Given the description of an element on the screen output the (x, y) to click on. 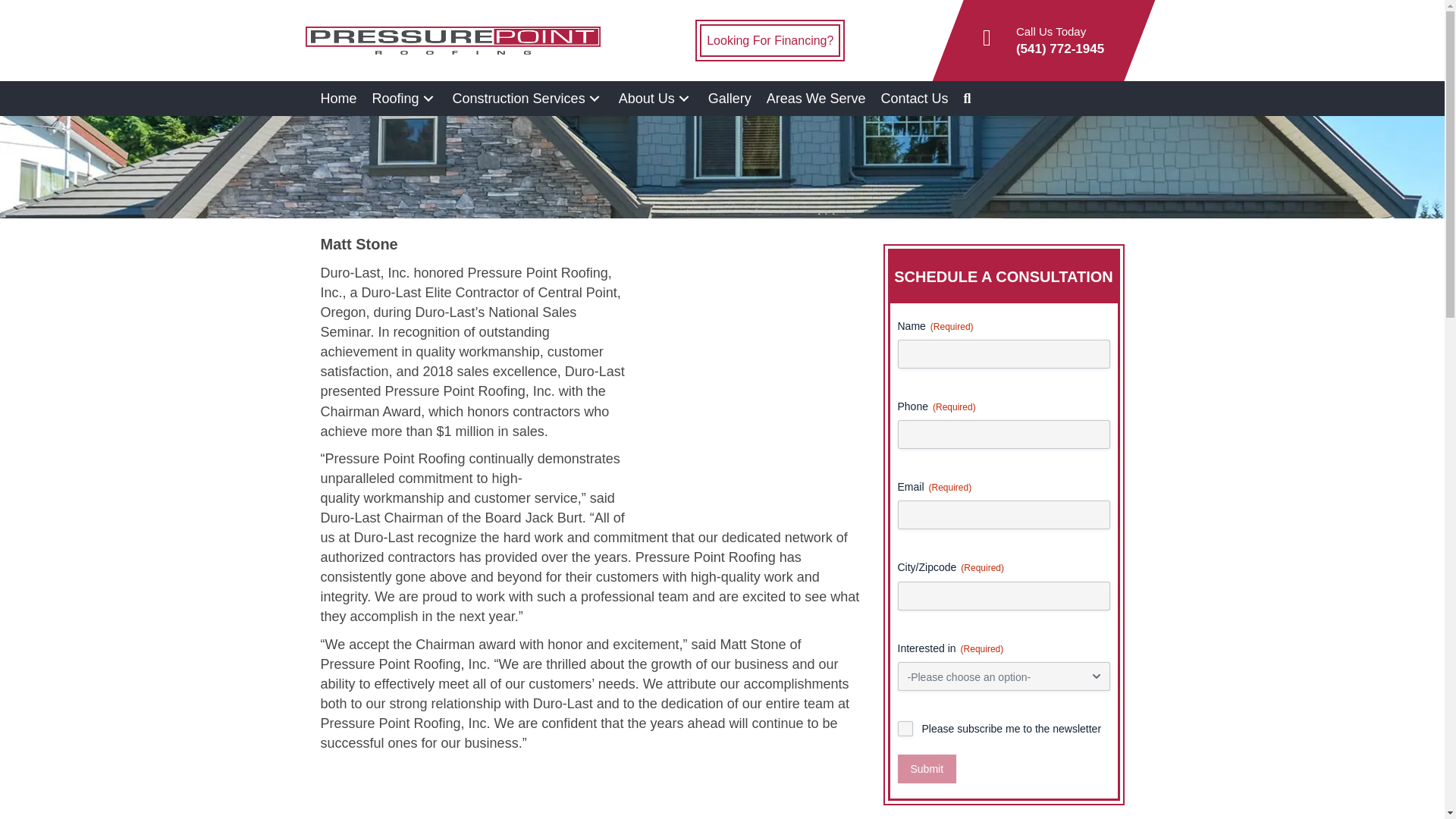
Submit (927, 768)
Gallery (729, 98)
Construction Services (528, 98)
Contact Us (913, 98)
Roofing (405, 98)
Home (338, 98)
Please subscribe me to the newsletter (905, 728)
Areas We Serve (815, 98)
About Us (655, 98)
medford-updated-logo (451, 40)
Looking For Financing? (770, 40)
